Given the description of an element on the screen output the (x, y) to click on. 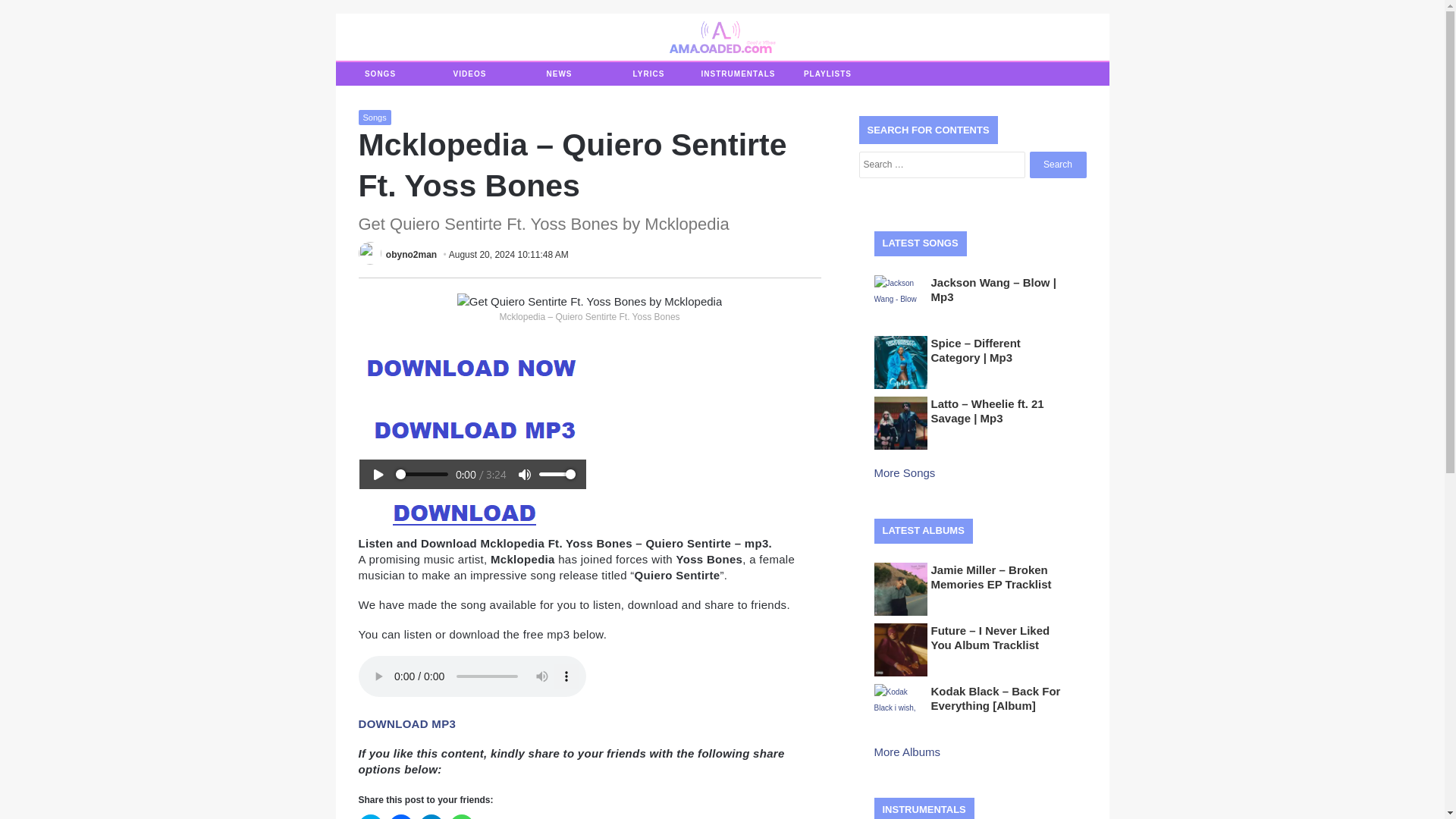
NEWS (558, 73)
PLAYLISTS (827, 73)
Search (1057, 164)
SONGS (379, 73)
VIDEOS (469, 73)
LYRICS (648, 73)
Click to share on WhatsApp (460, 816)
Click to share on Facebook (400, 816)
Click to share on Twitter (369, 816)
More Albums (908, 751)
